Given the description of an element on the screen output the (x, y) to click on. 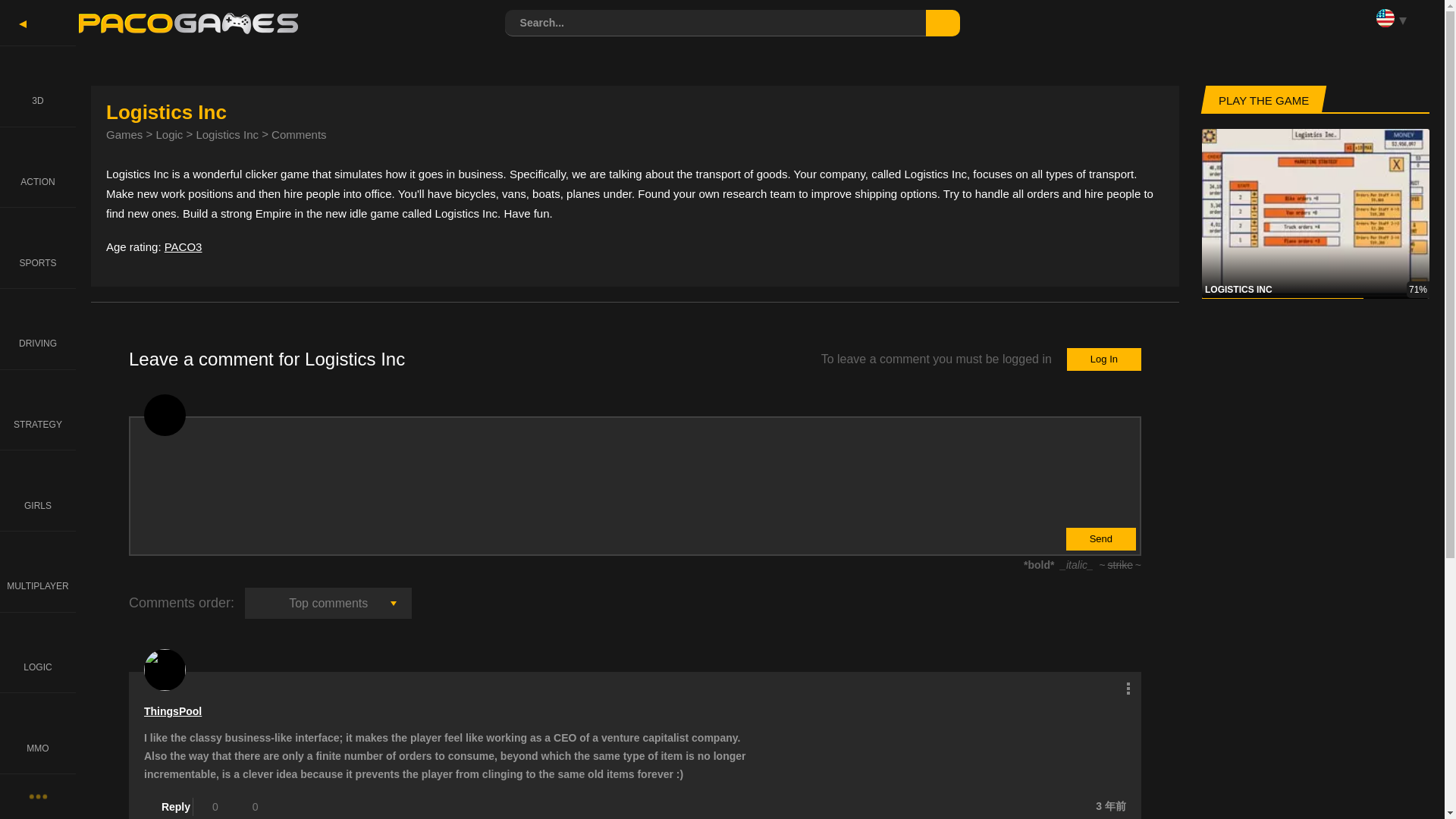
Logistics Inc (227, 133)
ACTION (37, 167)
Logic (169, 133)
DRIVING (37, 328)
Games (124, 133)
Action Games (37, 167)
Multiplayer Games (37, 570)
Strategy Games (37, 409)
GIRLS (37, 489)
Logic Games (37, 651)
LOGIC (37, 651)
3D (37, 85)
MMO games (37, 732)
PACO3 (183, 246)
MMO (37, 732)
